Given the description of an element on the screen output the (x, y) to click on. 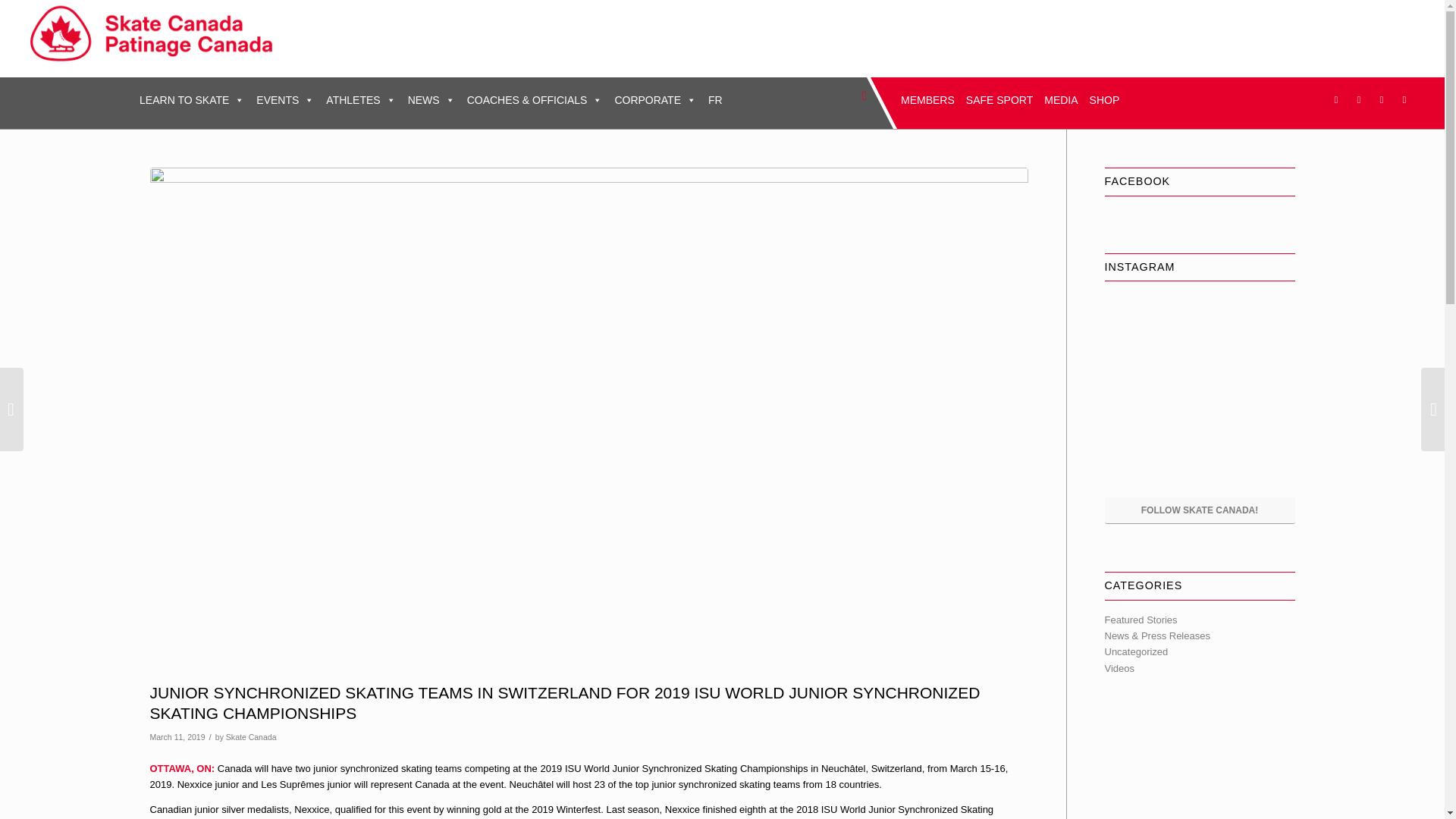
Twitter (1381, 99)
LEARN TO SKATE (191, 100)
CORPORATE (654, 100)
Instagram (1359, 99)
Posts by Skate Canada (250, 737)
Youtube (1404, 99)
ATHLETES (360, 100)
EVENTS (285, 100)
NEWS (431, 100)
Facebook (1336, 99)
